Given the description of an element on the screen output the (x, y) to click on. 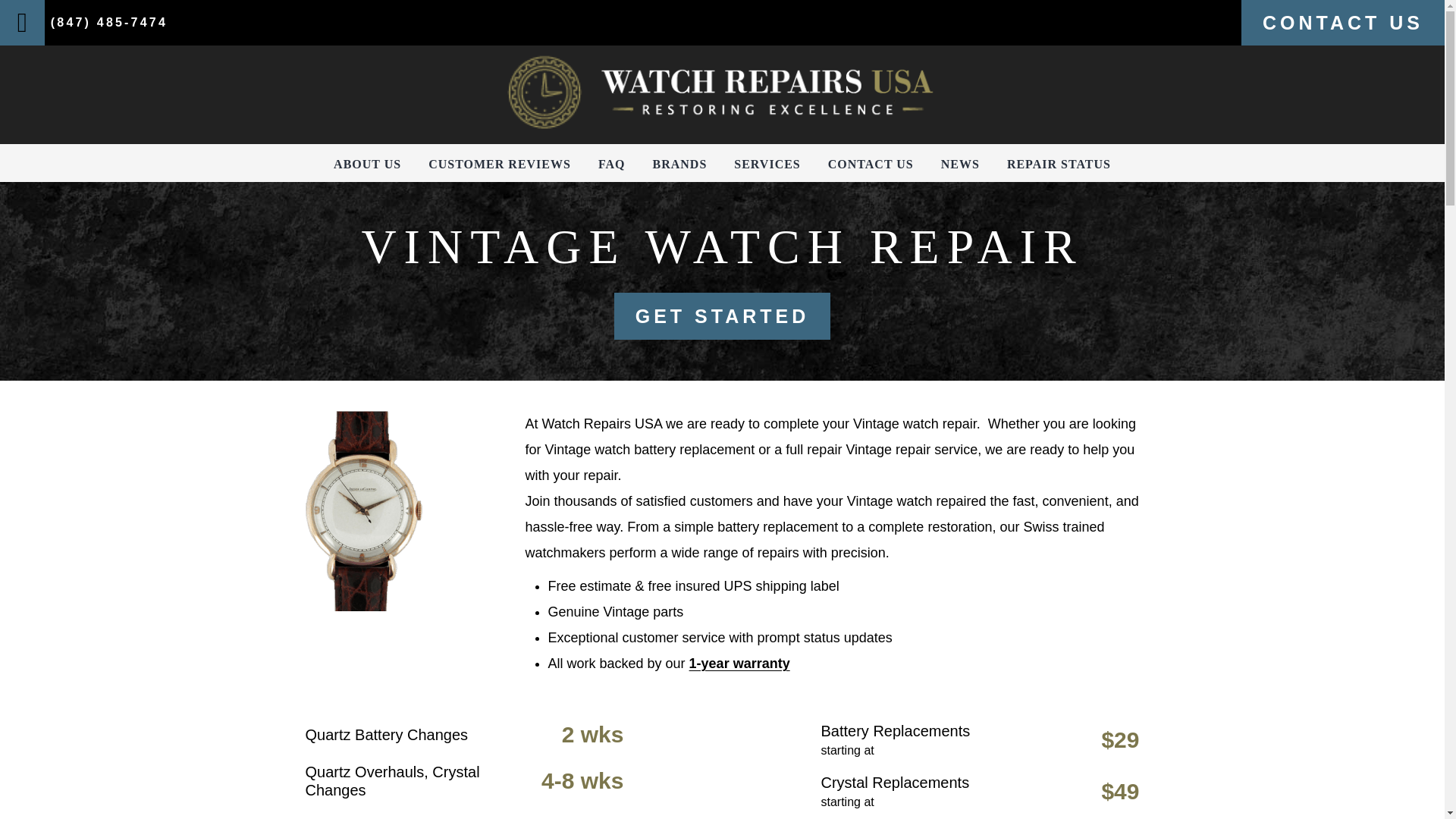
1-year warranty (739, 663)
CONTACT US (871, 163)
GET STARTED (722, 315)
SERVICES (766, 163)
NEWS (959, 163)
REPAIR STATUS (1058, 163)
FAQ (612, 163)
ABOUT US (367, 163)
BRANDS (679, 163)
CUSTOMER REVIEWS (499, 163)
